Given the description of an element on the screen output the (x, y) to click on. 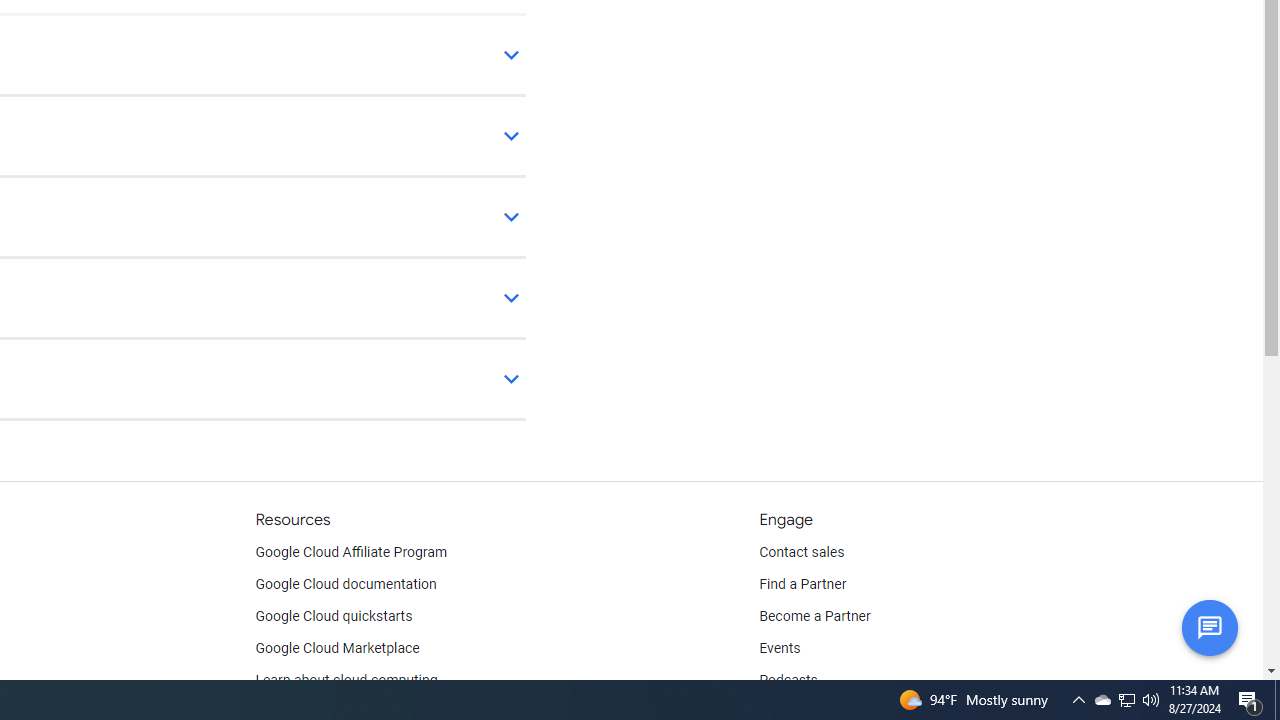
Google Cloud documentation (345, 584)
Learn about cloud computing (345, 680)
Become a Partner (814, 616)
Google Cloud Affiliate Program (351, 552)
Google Cloud Marketplace (336, 648)
Button to activate chat (1209, 627)
Find a Partner (803, 584)
Contact sales (801, 552)
Google Cloud quickstarts (333, 616)
Podcasts (788, 680)
Events (780, 648)
